Given the description of an element on the screen output the (x, y) to click on. 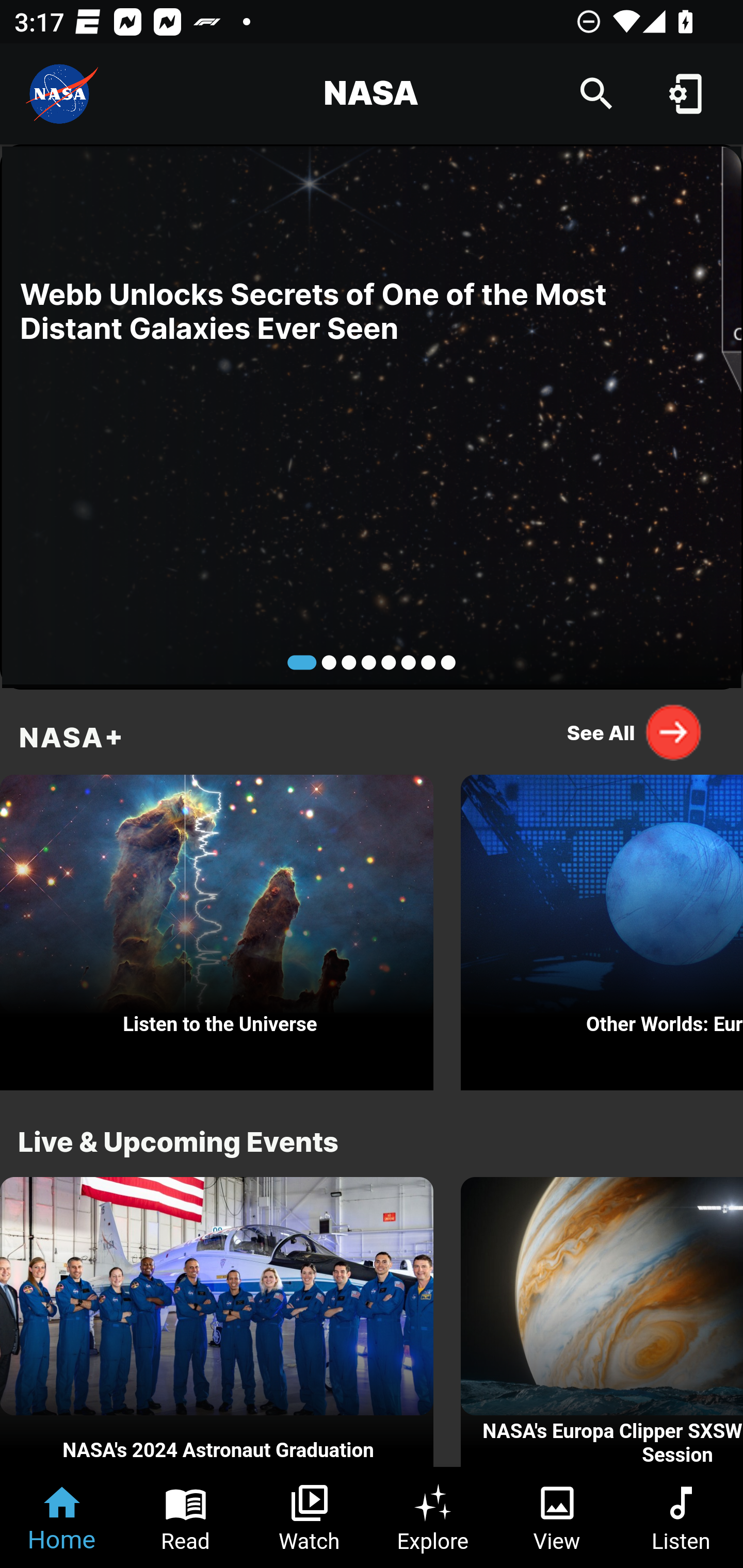
See All (634, 732)
Listen to the Universe (216, 927)
Other Worlds: Europa (601, 927)
NASA's 2024 Astronaut Graduation (216, 1322)
NASA's Europa Clipper SXSW 2024 Opening Session (601, 1322)
Home
Tab 1 of 6 (62, 1517)
Read
Tab 2 of 6 (185, 1517)
Watch
Tab 3 of 6 (309, 1517)
Explore
Tab 4 of 6 (433, 1517)
View
Tab 5 of 6 (556, 1517)
Listen
Tab 6 of 6 (680, 1517)
